Given the description of an element on the screen output the (x, y) to click on. 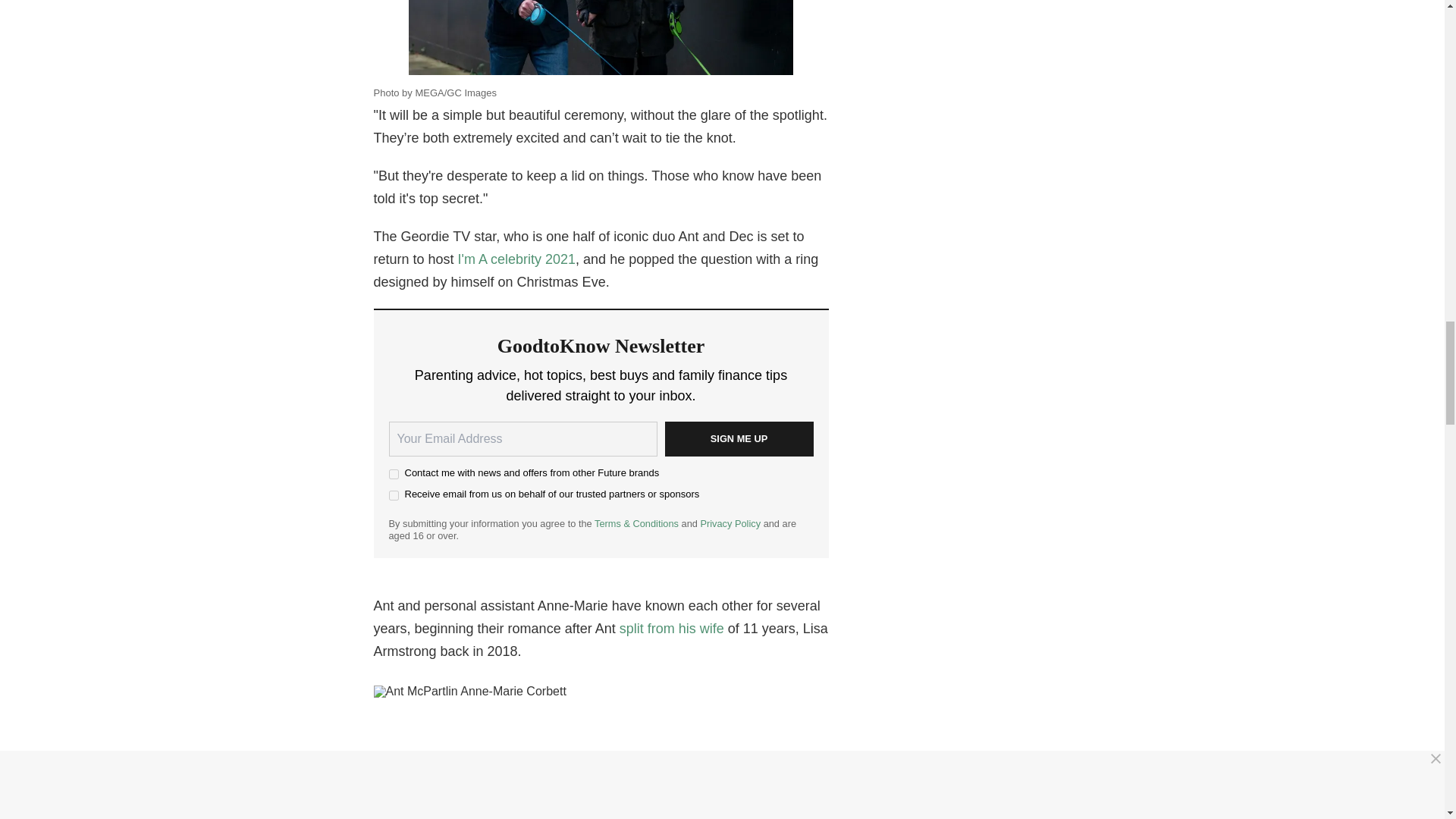
Sign me up (737, 438)
on (392, 495)
on (392, 474)
